Given the description of an element on the screen output the (x, y) to click on. 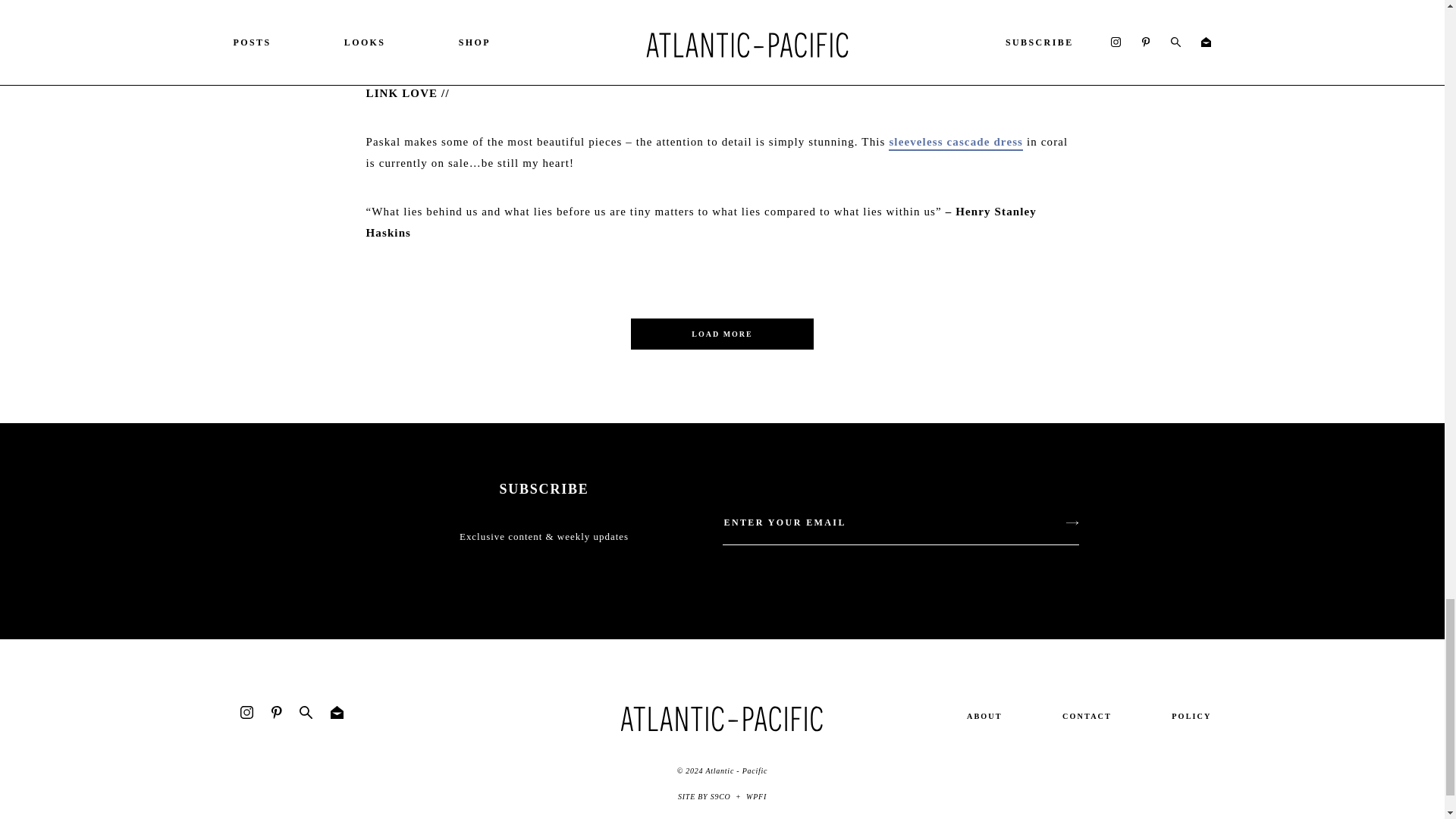
ABOUT (984, 715)
WPFI (756, 796)
S9CO (720, 796)
CONTACT (1087, 715)
LOAD MORE (721, 333)
POLICY (1191, 715)
sleeveless cascade dress (955, 142)
